Given the description of an element on the screen output the (x, y) to click on. 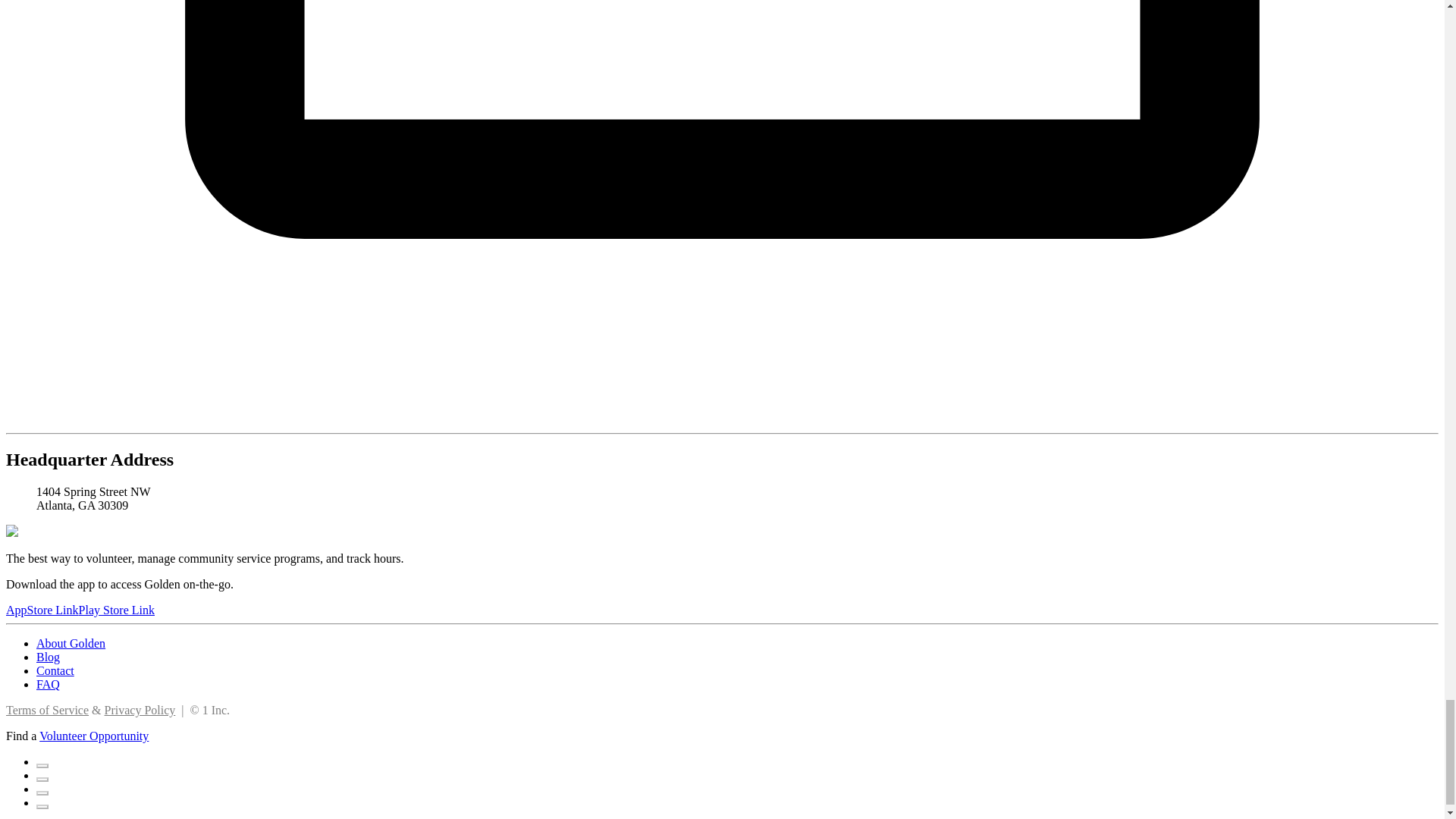
Privacy Policy (140, 709)
FAQ (47, 684)
Visit Us On Facebook (42, 761)
Blog (47, 656)
Visit Us On YouTube (42, 802)
About Golden (70, 643)
Terms of Service (46, 709)
Visit Us On Twitter (42, 775)
Play Store Link (116, 609)
FAQ (47, 684)
Volunteer Opportunity (93, 735)
Contact (55, 670)
AppStore Link (41, 609)
About Golden (70, 643)
Visit Us On Instagram (42, 788)
